Given the description of an element on the screen output the (x, y) to click on. 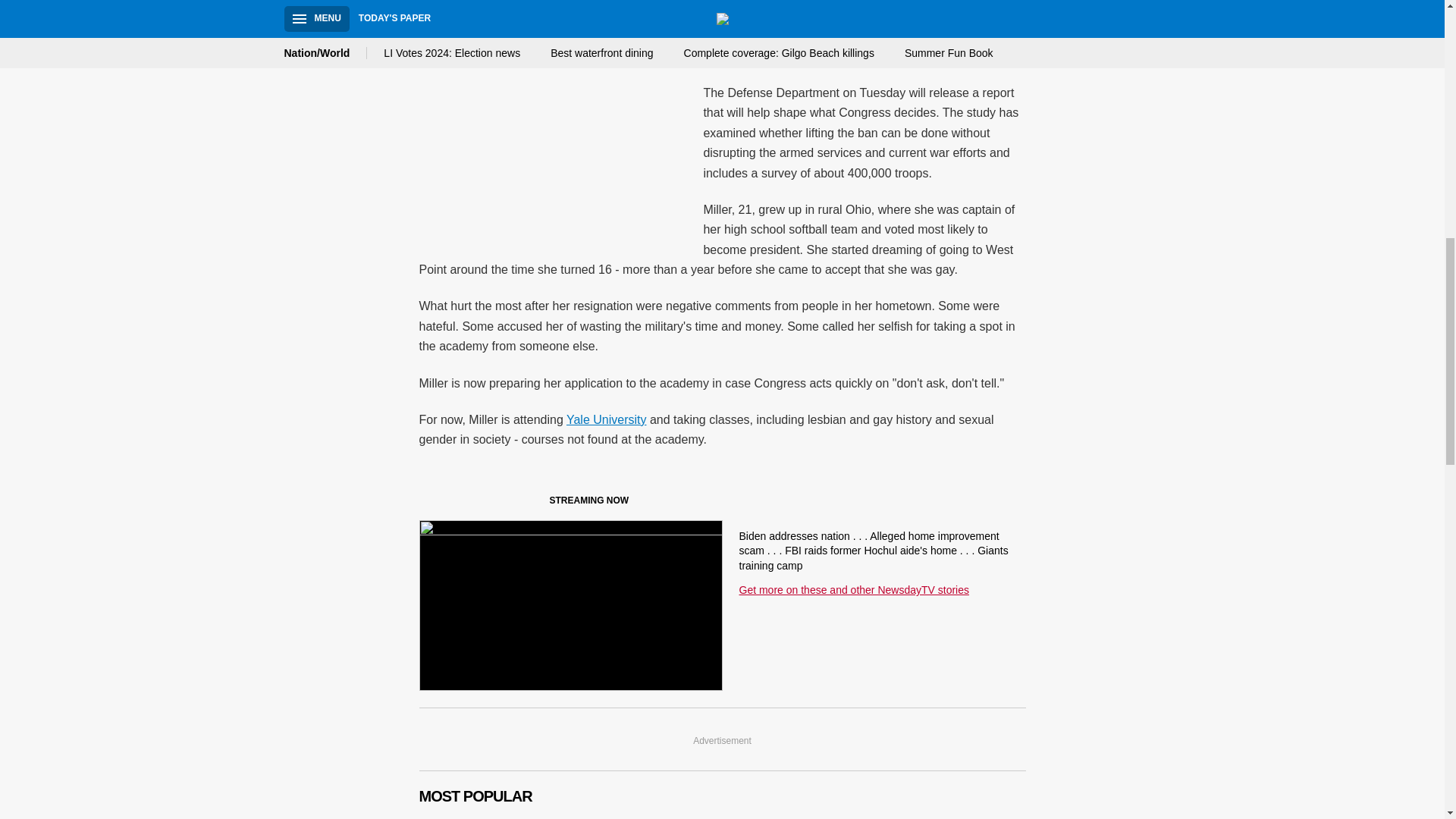
President Barack Obama (592, 20)
STREAMING NOW (530, 503)
Yale University (606, 419)
Get more on these and other NewsdayTV stories (853, 589)
